Given the description of an element on the screen output the (x, y) to click on. 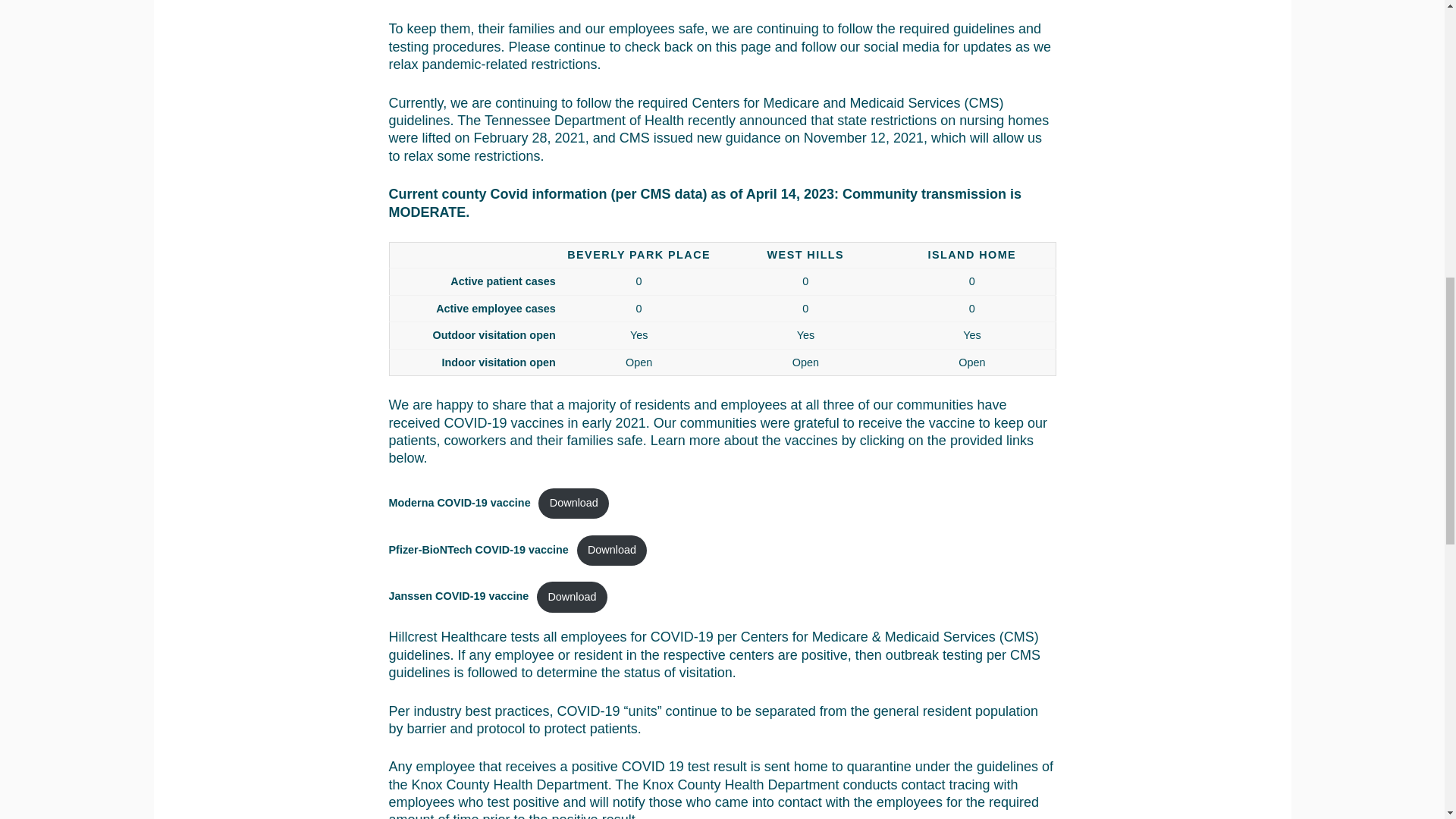
Moderna COVID-19 vaccine (458, 502)
Pfizer-BioNTech COVID-19 vaccine (477, 549)
Download (573, 503)
Download (572, 596)
Download (611, 550)
Janssen COVID-19 vaccine (458, 596)
